Given the description of an element on the screen output the (x, y) to click on. 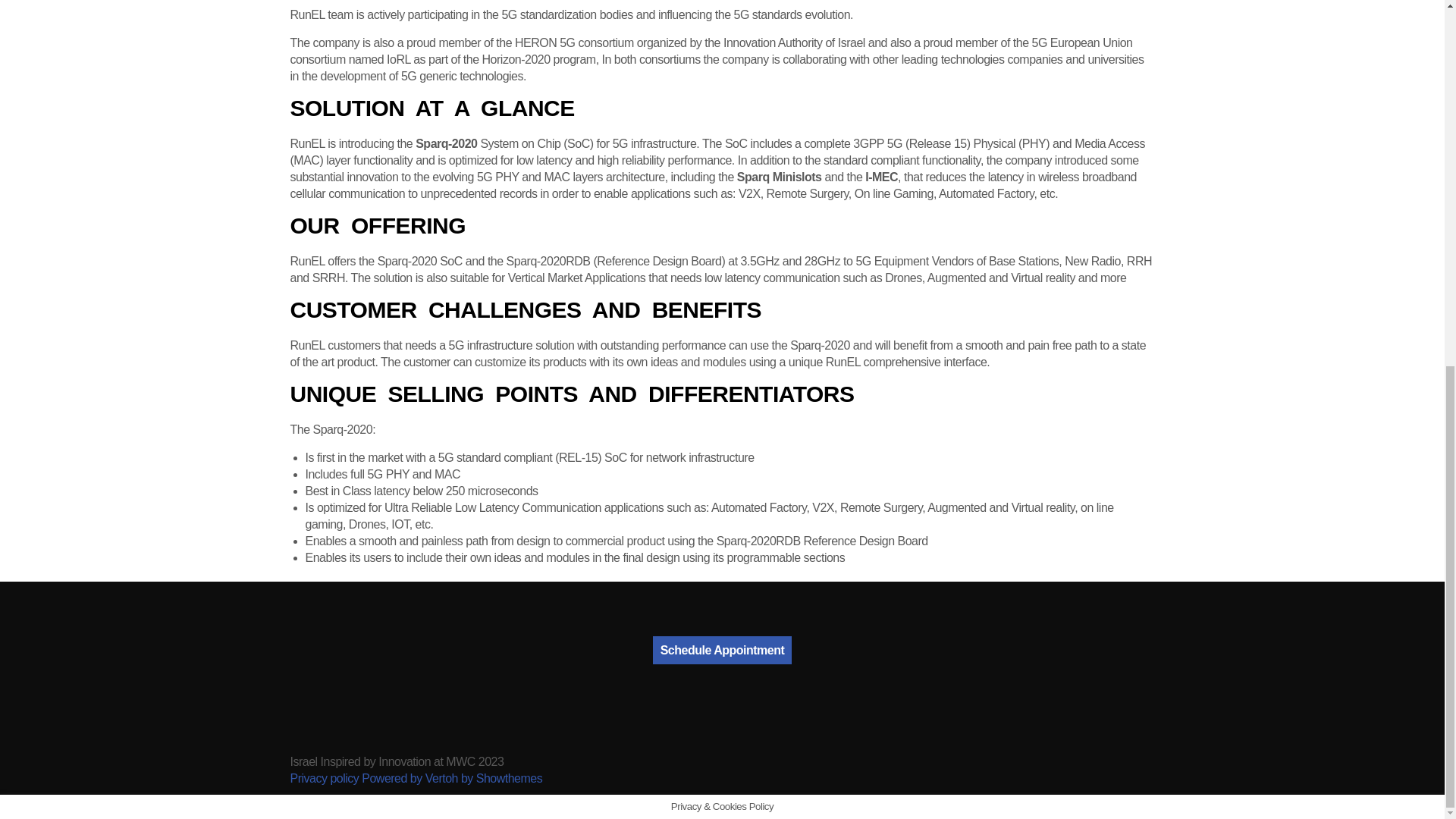
Powered by Vertoh by Showthemes (451, 778)
Privacy policy (323, 778)
Schedule Appointment (722, 650)
